Given the description of an element on the screen output the (x, y) to click on. 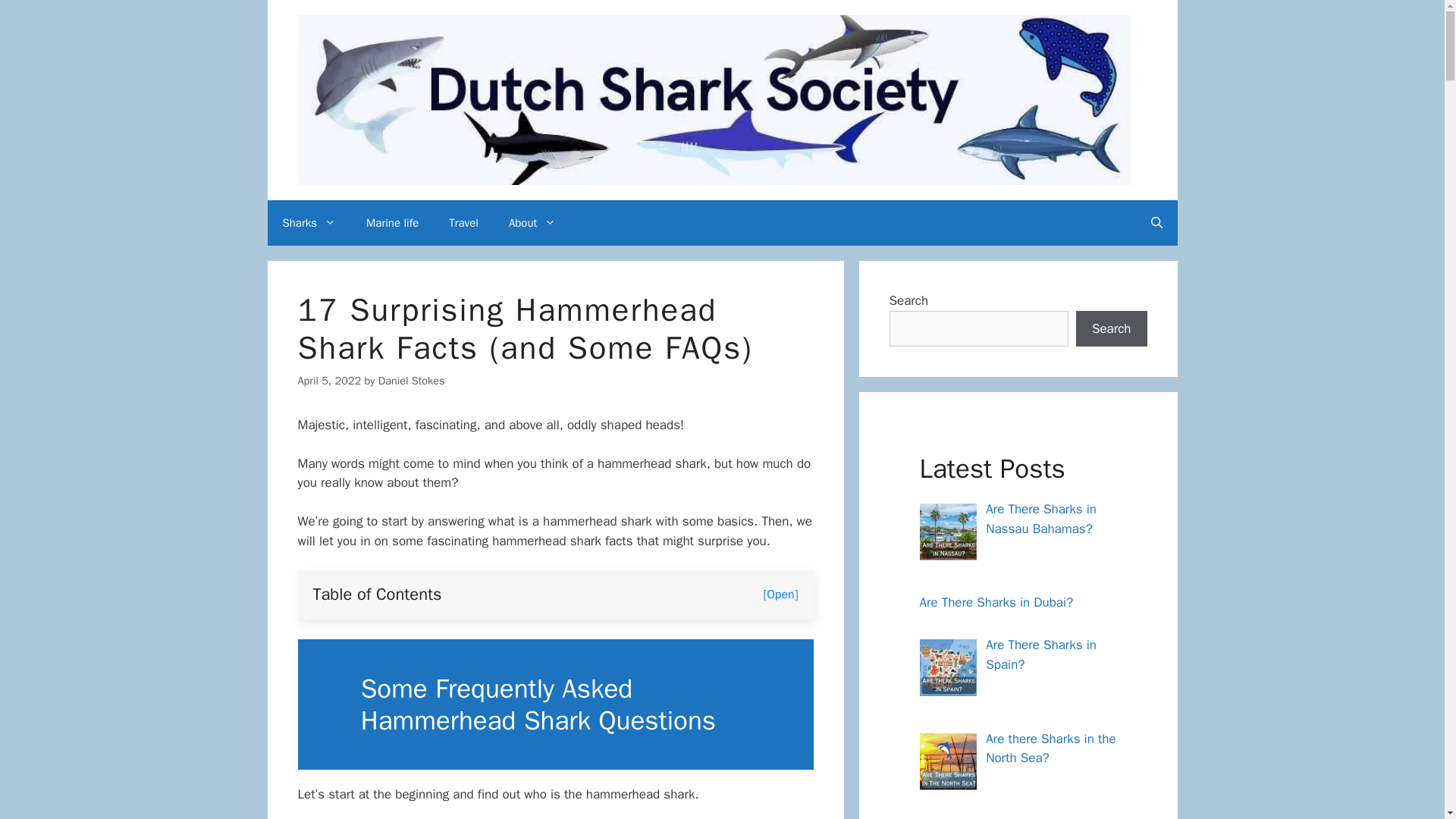
View all posts by Daniel Stokes (411, 380)
Travel (463, 222)
Sharks (308, 222)
Marine life (391, 222)
About (531, 222)
Daniel Stokes (411, 380)
